Given the description of an element on the screen output the (x, y) to click on. 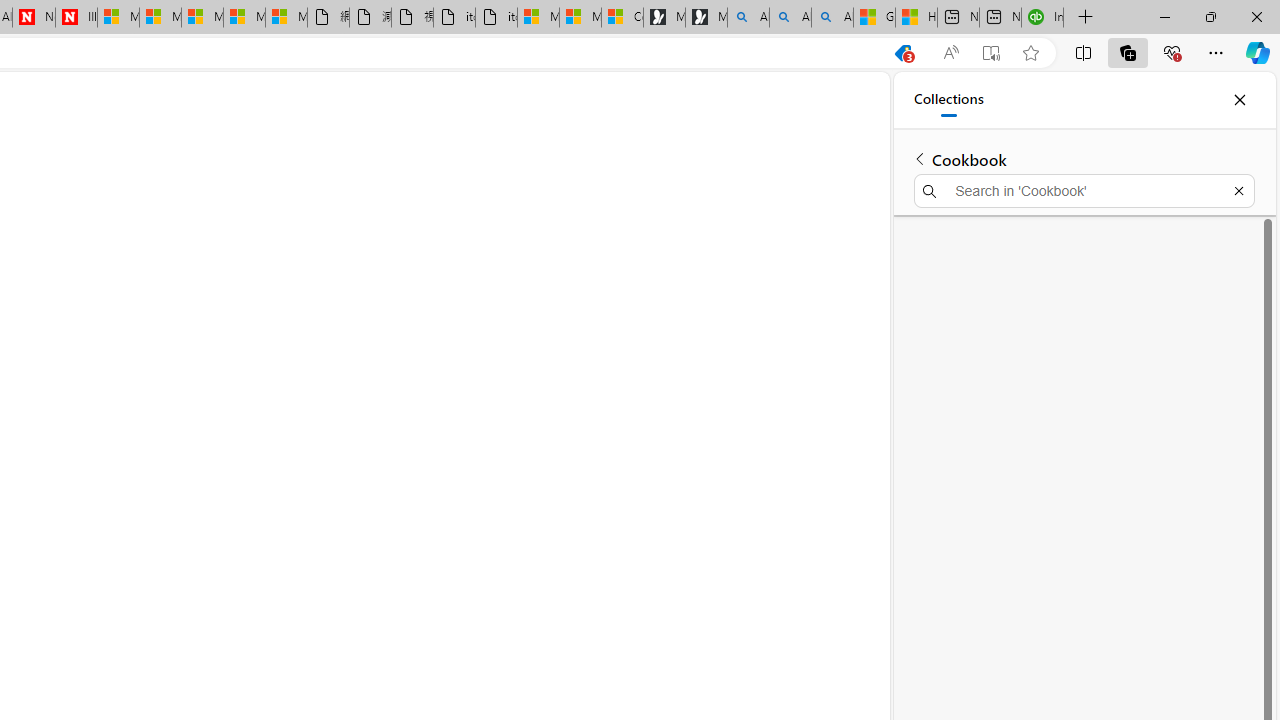
AutomationID: brandFlyLogo (805, 484)
This site has coupons! Shopping in Microsoft Edge (902, 53)
